Given the description of an element on the screen output the (x, y) to click on. 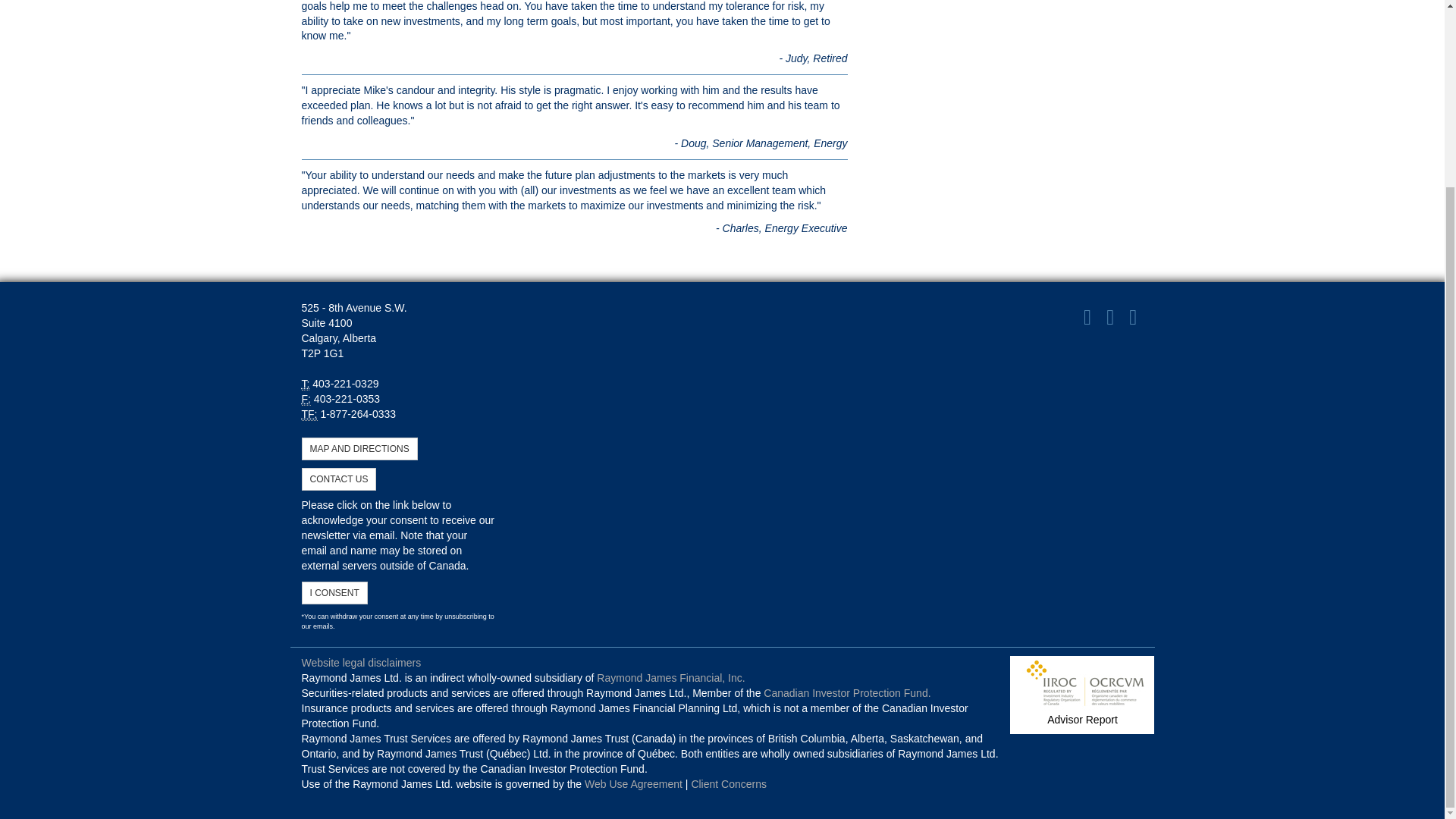
Toll Free (309, 413)
